Given the description of an element on the screen output the (x, y) to click on. 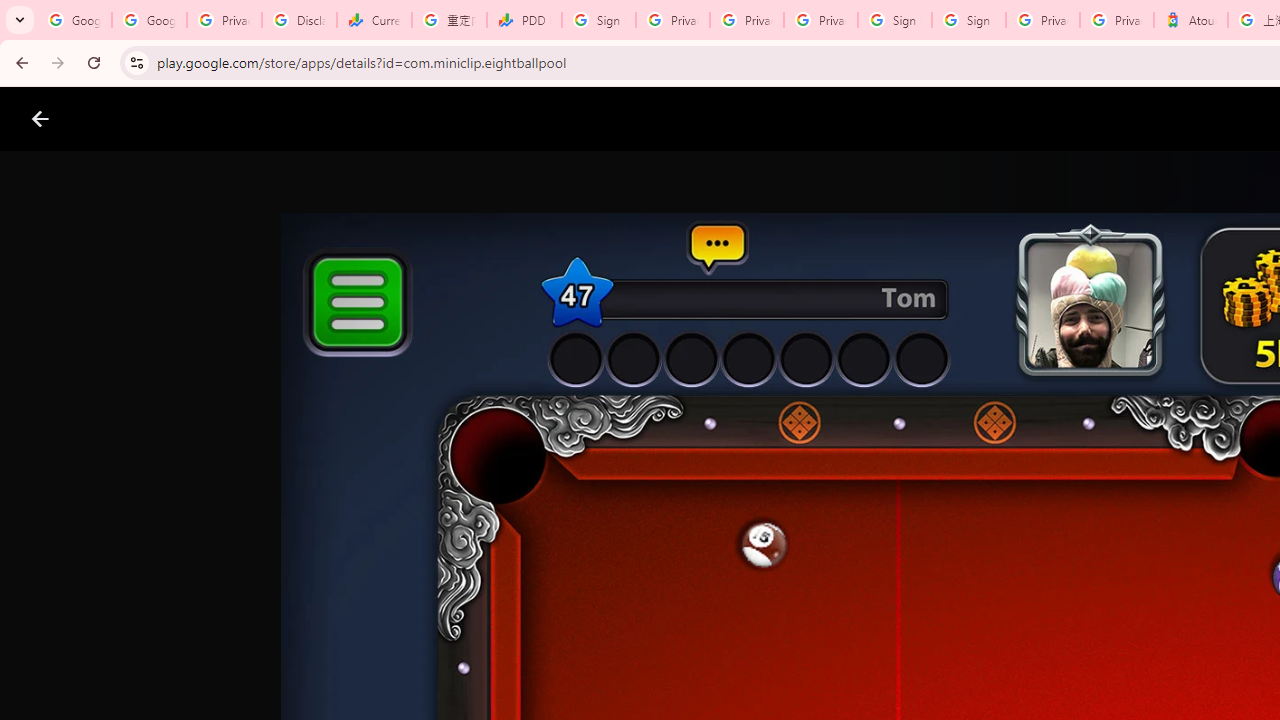
Privacy Checkup (820, 20)
Google Play logo (111, 119)
Kids (385, 119)
Sign in - Google Accounts (598, 20)
Miniclip.com (680, 586)
Google Workspace Admin Community (74, 20)
Sign in - Google Accounts (968, 20)
Atour Hotel - Google hotels (1190, 20)
Content rating (973, 656)
